Given the description of an element on the screen output the (x, y) to click on. 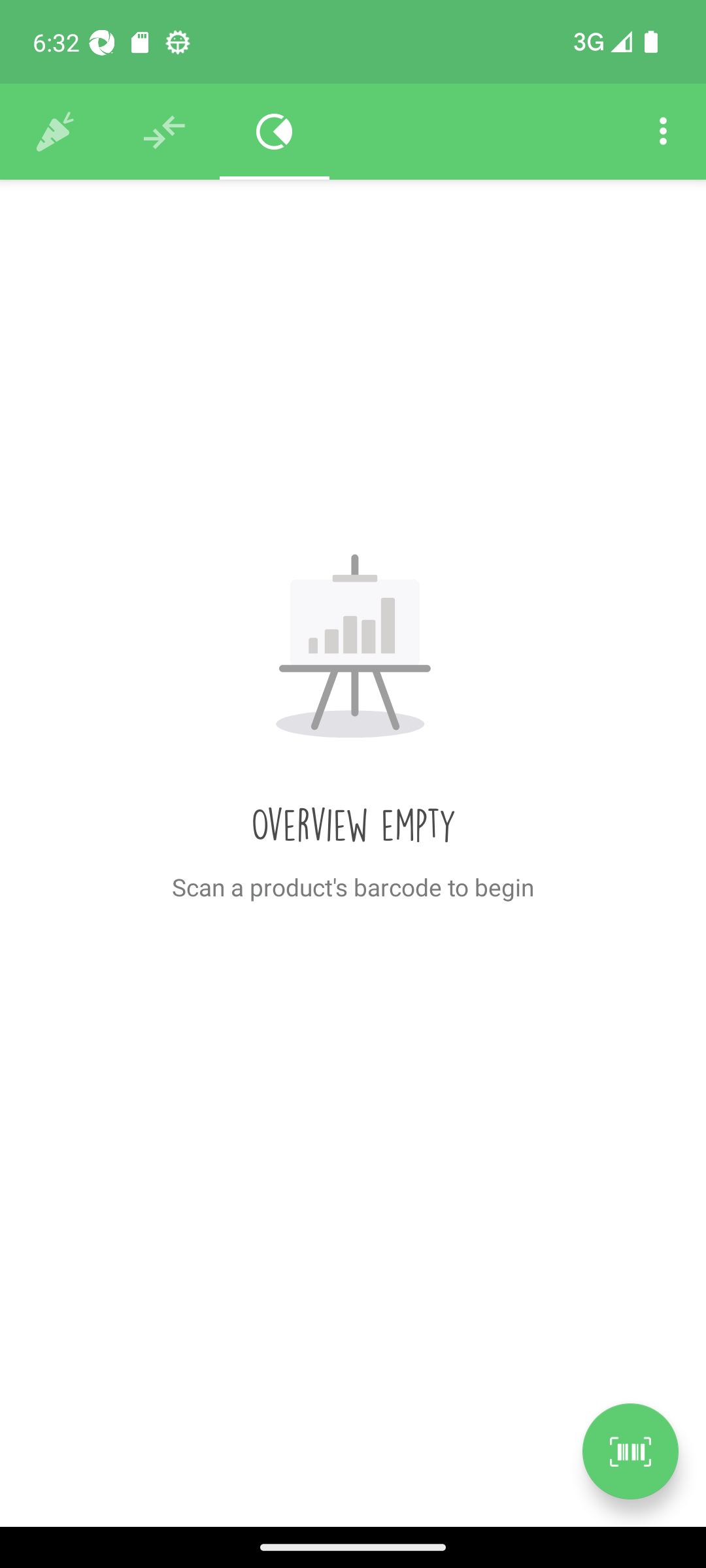
History (55, 131)
Recommendations (164, 131)
Settings (663, 131)
Scan a product (630, 1451)
